Given the description of an element on the screen output the (x, y) to click on. 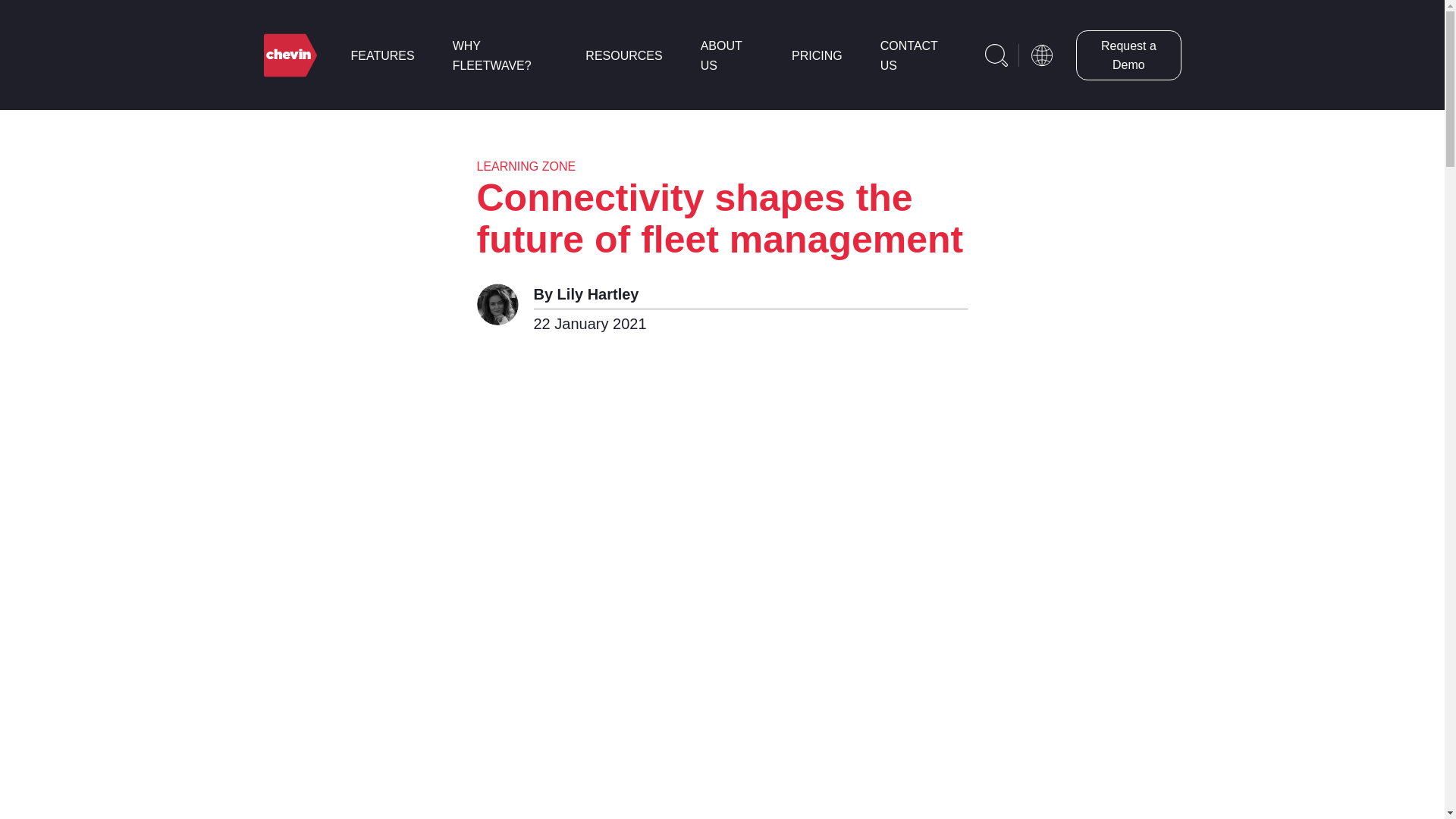
FEATURES (381, 55)
WHY FLEETWAVE? (491, 55)
